Given the description of an element on the screen output the (x, y) to click on. 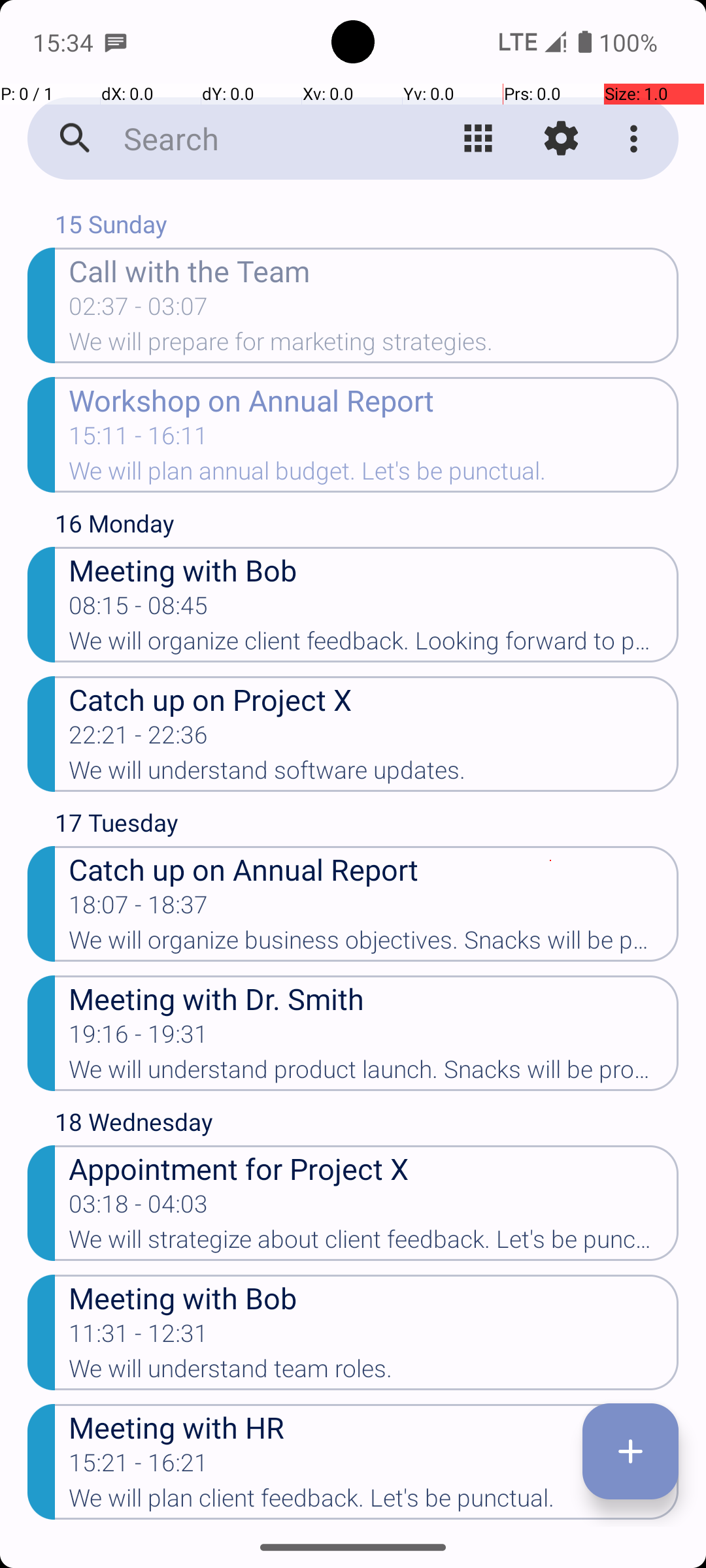
02:37 - 03:07 Element type: android.widget.TextView (137, 309)
We will prepare for marketing strategies. Element type: android.widget.TextView (373, 345)
15:11 - 16:11 Element type: android.widget.TextView (137, 439)
We will plan annual budget. Let's be punctual. Element type: android.widget.TextView (373, 474)
08:15 - 08:45 Element type: android.widget.TextView (137, 609)
We will organize client feedback. Looking forward to productive discussions. Element type: android.widget.TextView (373, 644)
22:21 - 22:36 Element type: android.widget.TextView (137, 738)
We will understand software updates. Element type: android.widget.TextView (373, 773)
18:07 - 18:37 Element type: android.widget.TextView (137, 908)
We will organize business objectives. Snacks will be provided. Element type: android.widget.TextView (373, 943)
19:16 - 19:31 Element type: android.widget.TextView (137, 1037)
We will understand product launch. Snacks will be provided. Element type: android.widget.TextView (373, 1073)
03:18 - 04:03 Element type: android.widget.TextView (137, 1207)
We will strategize about client feedback. Let's be punctual. Element type: android.widget.TextView (373, 1242)
11:31 - 12:31 Element type: android.widget.TextView (137, 1337)
We will understand team roles. Element type: android.widget.TextView (373, 1372)
15:21 - 16:21 Element type: android.widget.TextView (137, 1466)
We will plan client feedback. Let's be punctual. Element type: android.widget.TextView (373, 1501)
